Given the description of an element on the screen output the (x, y) to click on. 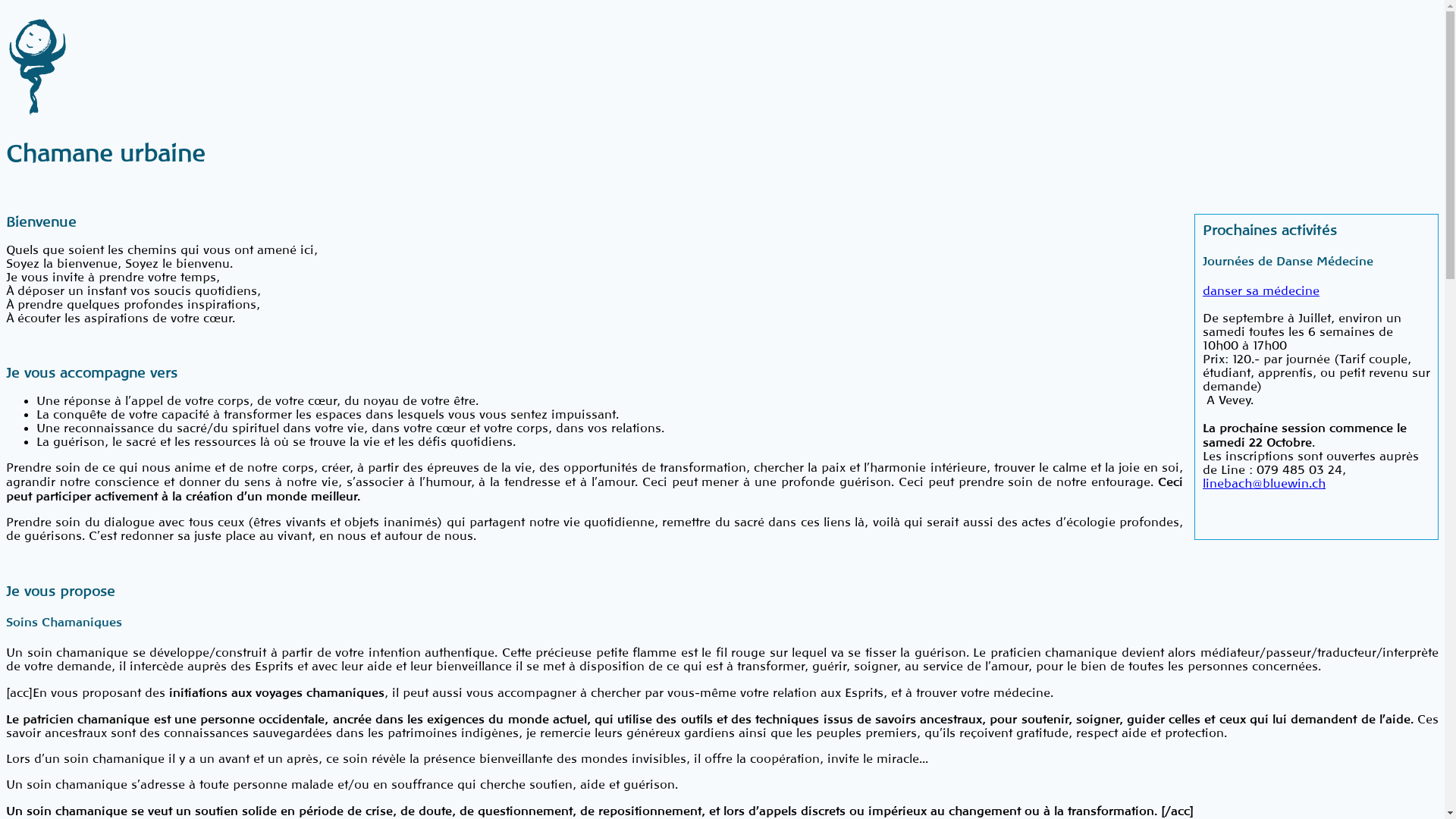
linebach@bluewin.ch Element type: text (1263, 483)
